Given the description of an element on the screen output the (x, y) to click on. 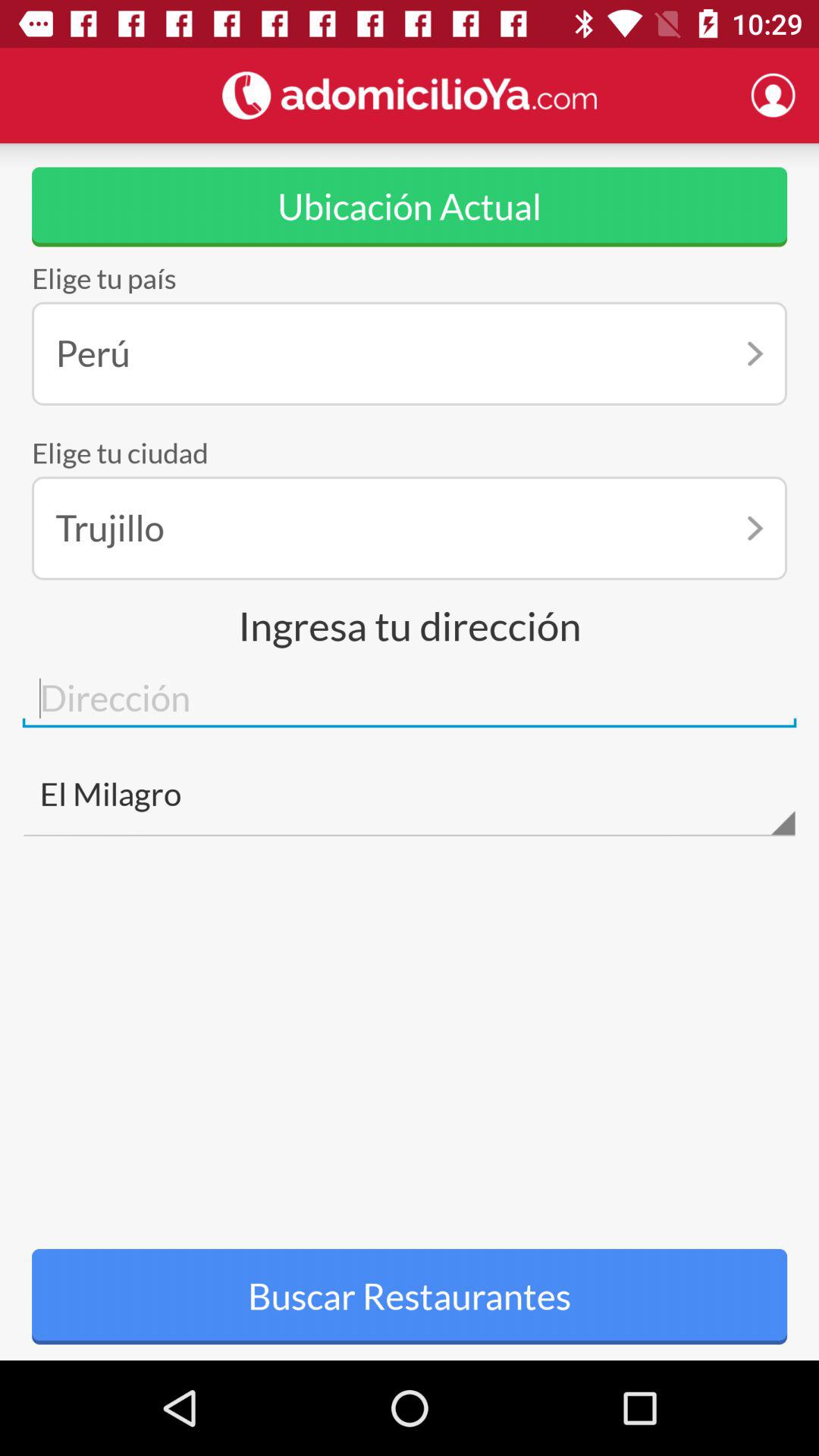
go to profile (773, 95)
